Given the description of an element on the screen output the (x, y) to click on. 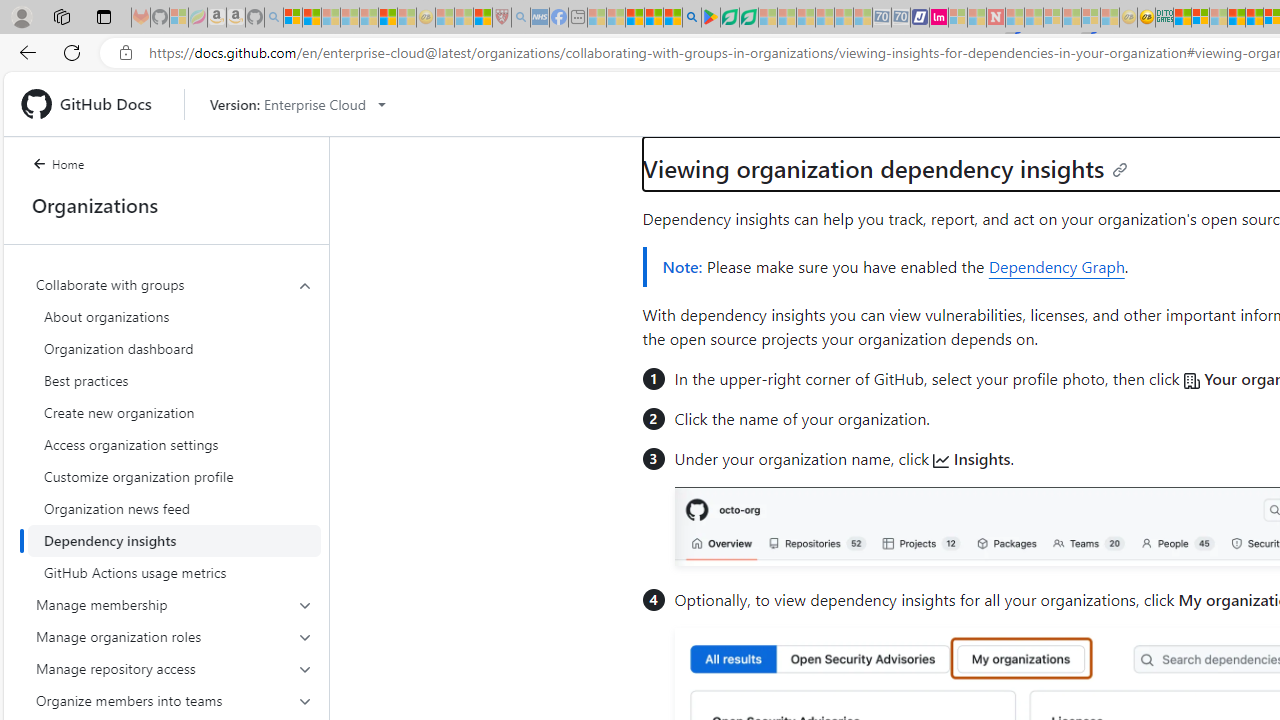
Access organization settings (174, 444)
GitHub Actions usage metrics (174, 572)
Manage membership (174, 604)
Organization news feed (174, 508)
GitHub Actions usage metrics (174, 572)
GitHub Docs (93, 103)
Organizations (166, 205)
Setting up a trial of GitHub Enterprise Cloud (824, 100)
Manage repository access (174, 668)
